Given the description of an element on the screen output the (x, y) to click on. 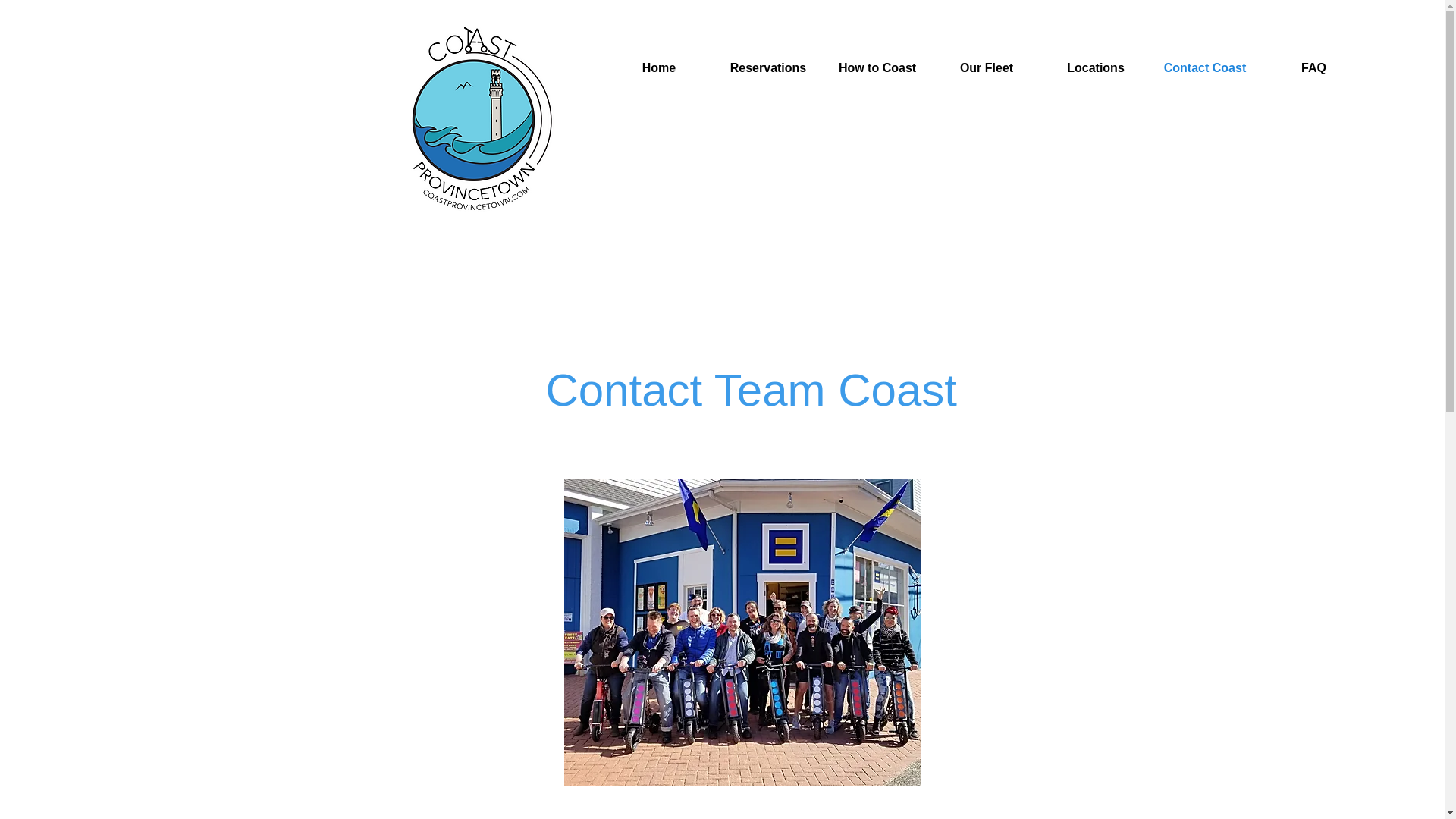
Contact Coast (1204, 68)
FAQ (1313, 68)
Reservations (767, 68)
Home (658, 68)
Our Fleet (986, 68)
How to Coast (876, 68)
Locations (1095, 68)
